Given the description of an element on the screen output the (x, y) to click on. 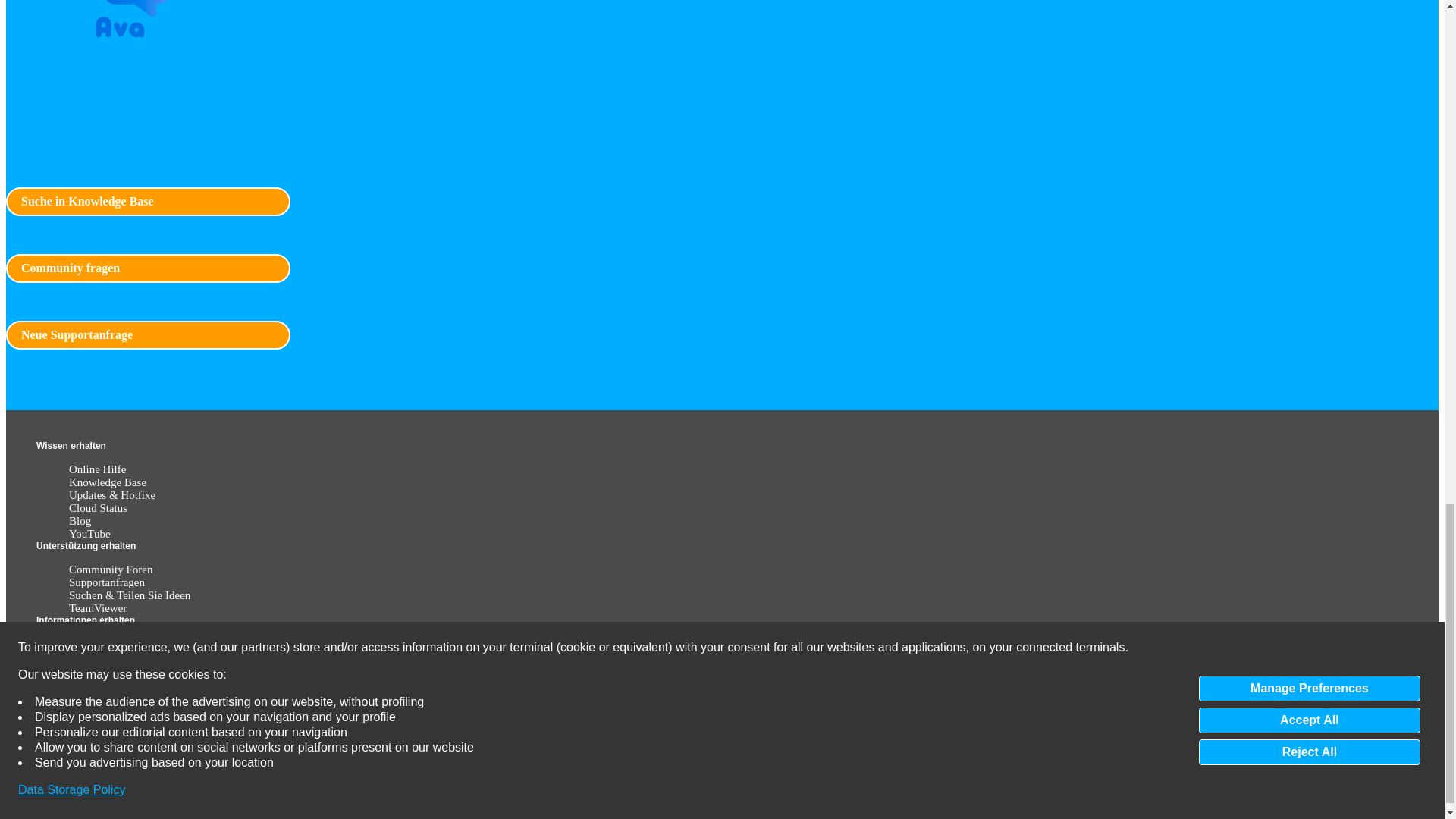
Community fragen (147, 267)
Suche in Knowledge Base (147, 201)
Neue Supportanfrage (147, 335)
